Given the description of an element on the screen output the (x, y) to click on. 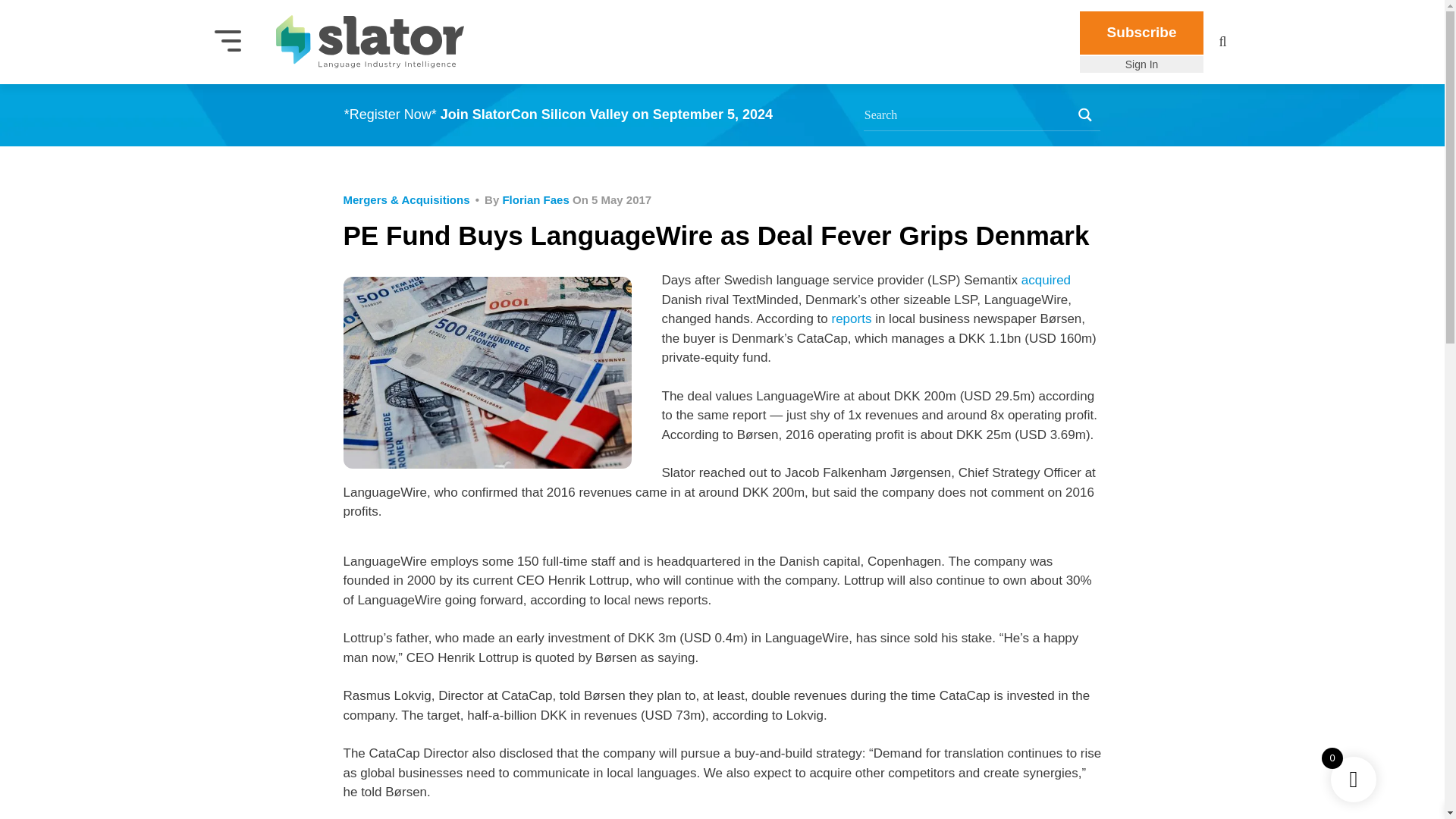
Subscribe (1142, 32)
Sign In (1142, 64)
